Given the description of an element on the screen output the (x, y) to click on. 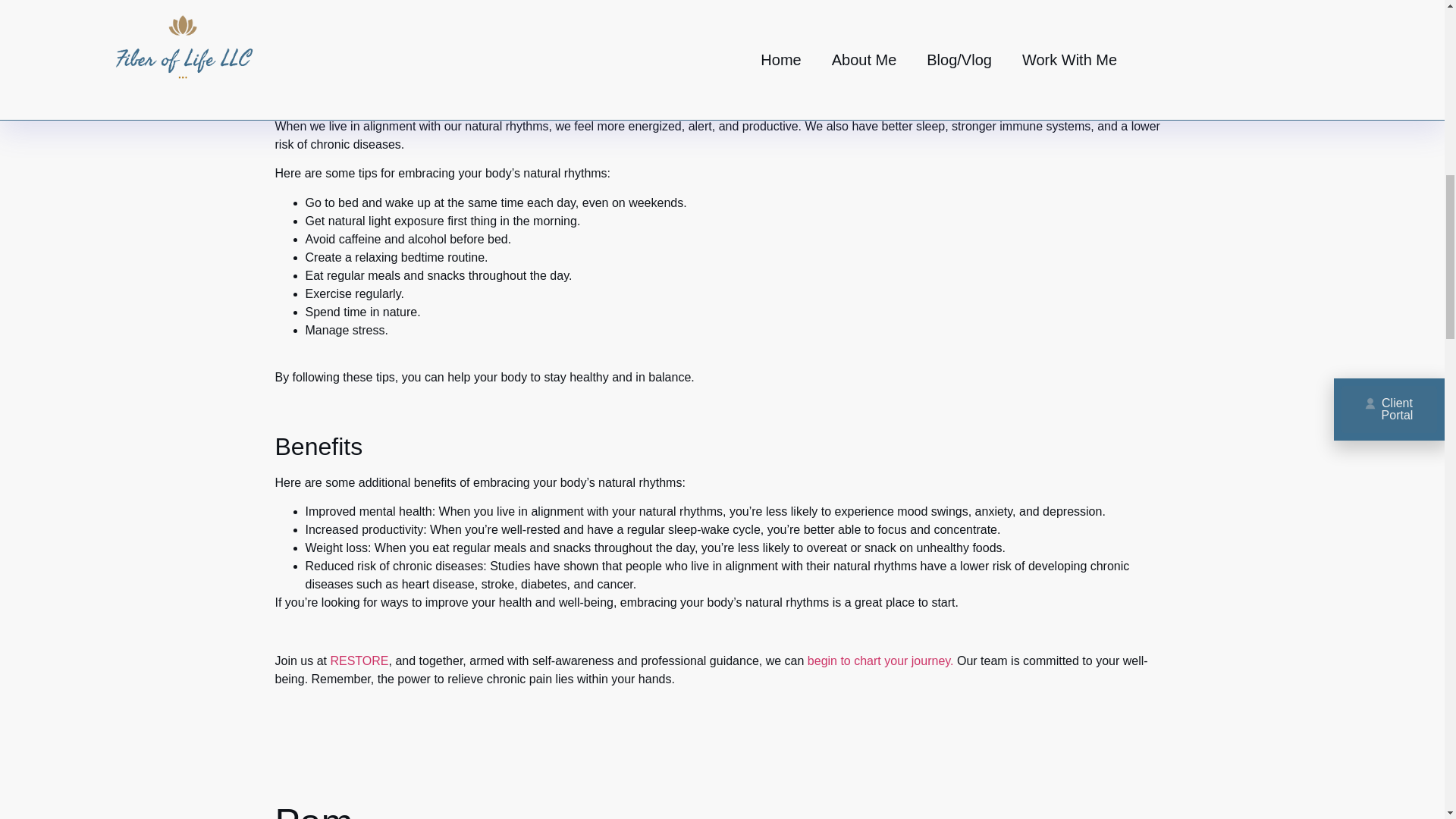
RESTORE (359, 660)
begin to chart your journey. (880, 660)
